Given the description of an element on the screen output the (x, y) to click on. 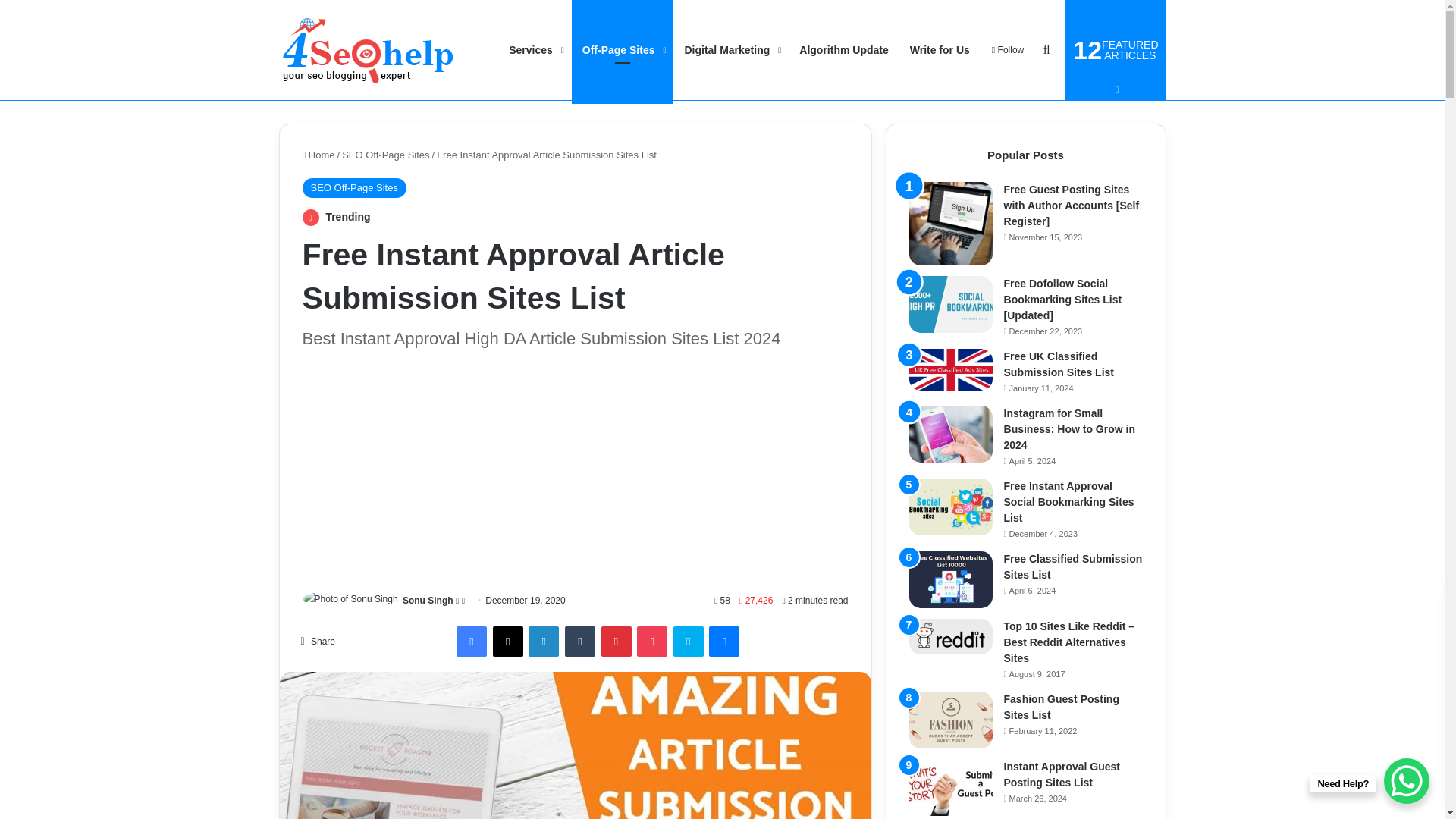
Off-Page Sites (623, 49)
Digital Marketing (730, 49)
Sonu Singh (427, 600)
4 SEO Help (368, 50)
